Given the description of an element on the screen output the (x, y) to click on. 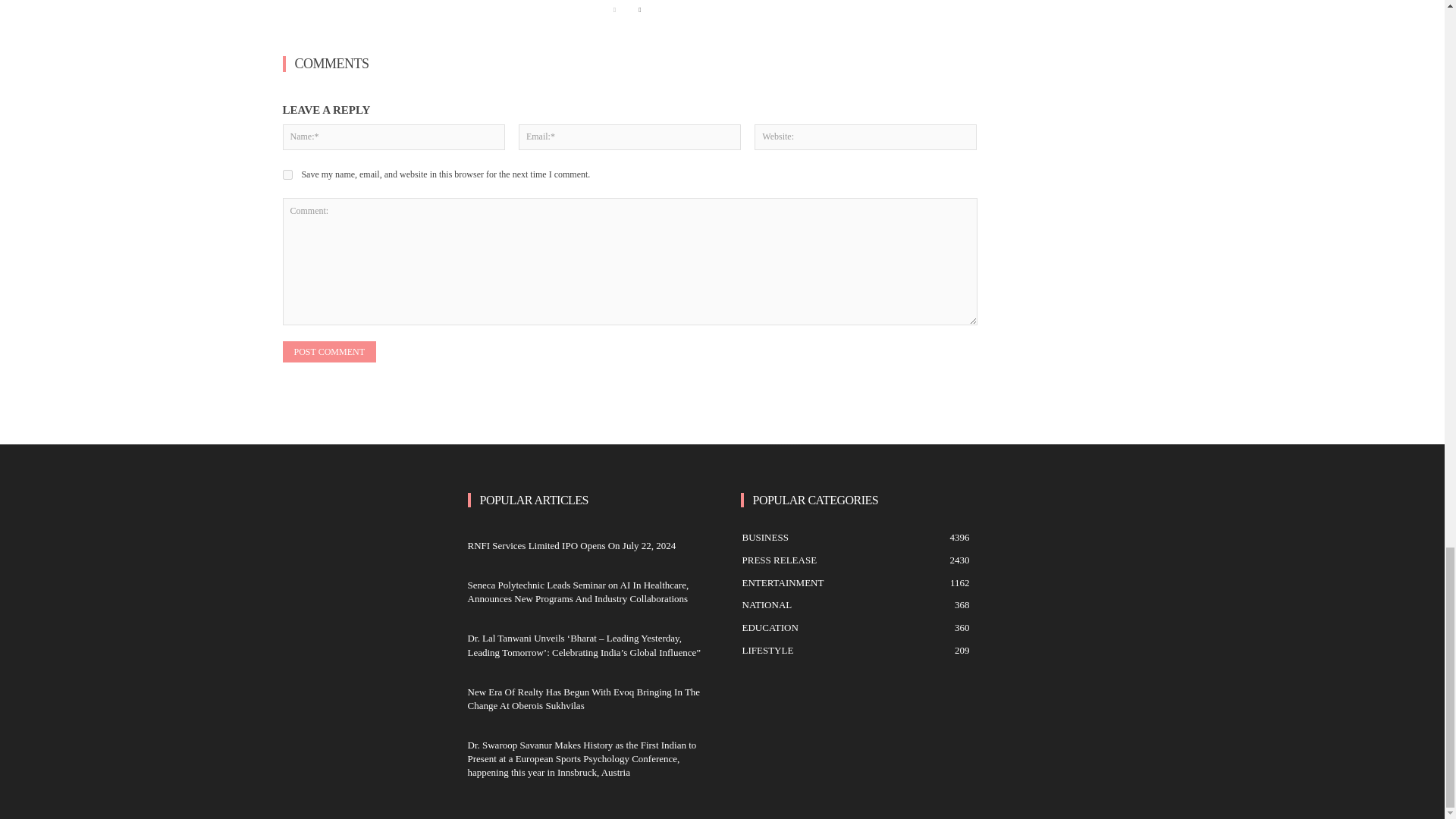
Post Comment (328, 351)
yes (287, 174)
